Given the description of an element on the screen output the (x, y) to click on. 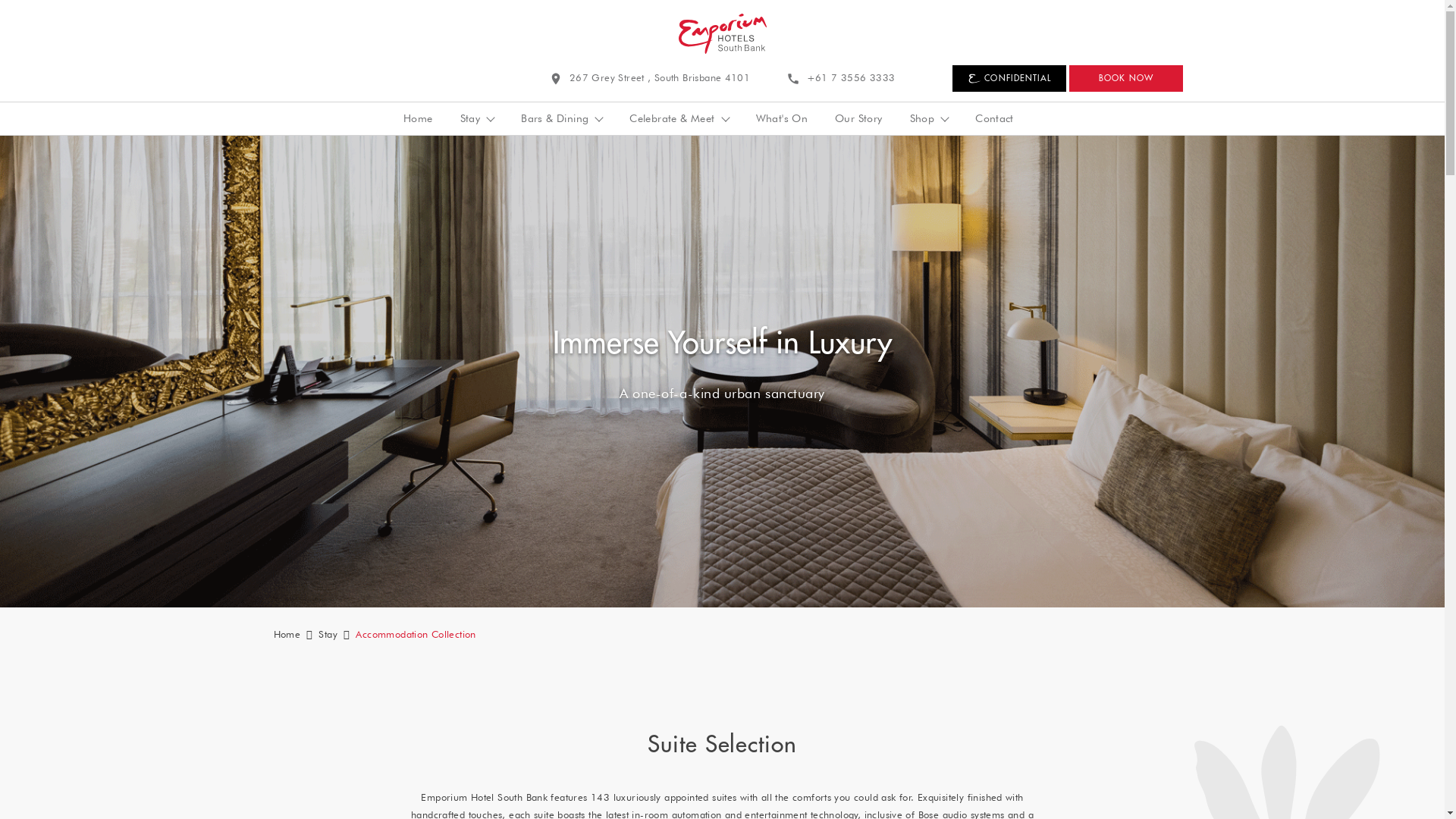
Celebrate & Meet Element type: text (678, 118)
BOOK NOW Element type: text (1126, 78)
Our Story Element type: text (858, 118)
Stay Element type: text (477, 118)
Stay Element type: text (327, 633)
CONFIDENTIAL Element type: text (1009, 78)
Home Element type: text (286, 633)
Shop Element type: text (929, 118)
267 Grey Street , South Brisbane 4101 Element type: text (649, 78)
Home Element type: text (418, 118)
Bars & Dining Element type: text (561, 118)
+61 7 3556 3333 Element type: text (840, 78)
What'S On Element type: text (782, 118)
Accommodation Collection Element type: text (415, 633)
Contact Element type: text (994, 118)
